Given the description of an element on the screen output the (x, y) to click on. 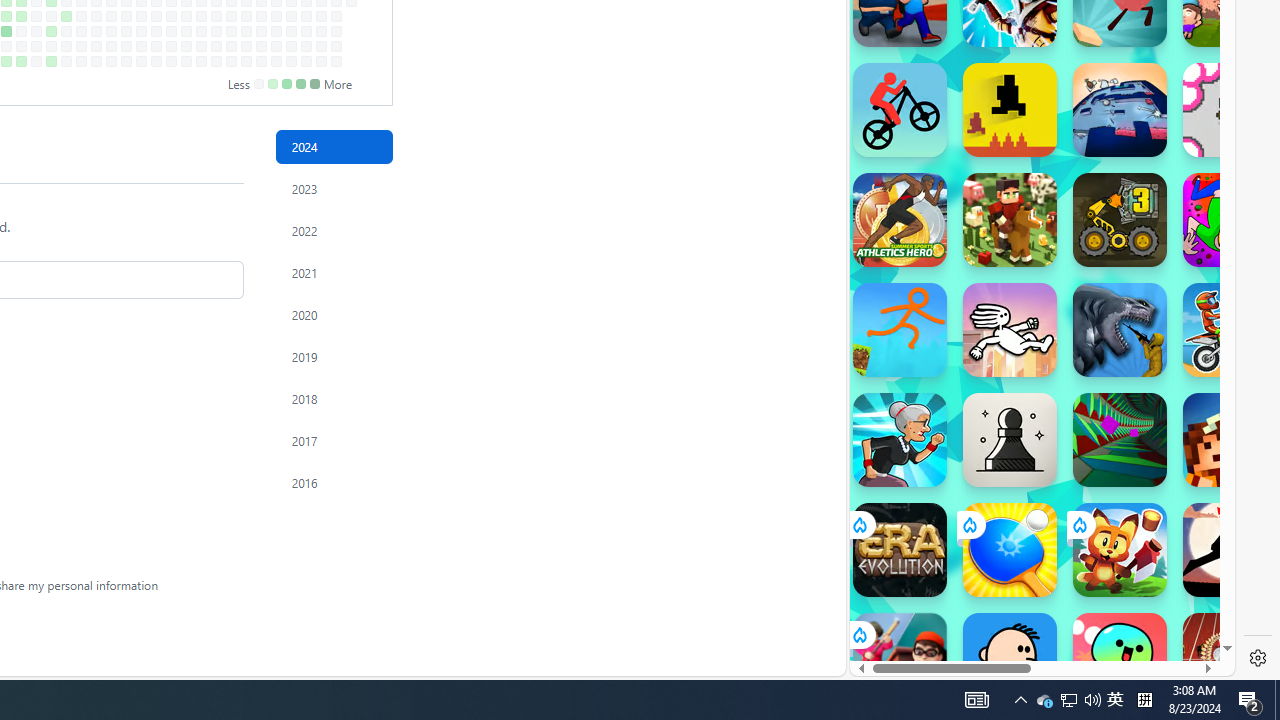
No contributions on November 1st. (216, 46)
No contributions on November 27th. (276, 16)
Poor Eddie (1009, 659)
No contributions on December 11th. (306, 16)
No contributions on November 30th. (276, 61)
No contributions on December 20th. (321, 46)
No contributions on November 22nd. (261, 46)
1 contribution on August 21st. (66, 16)
1 contribution on August 3rd. (20, 61)
BoxRob 3 (1119, 219)
2024 (333, 147)
No contributions on September 28th. (141, 61)
2018 (333, 399)
No contributions on August 30th. (81, 46)
